Given the description of an element on the screen output the (x, y) to click on. 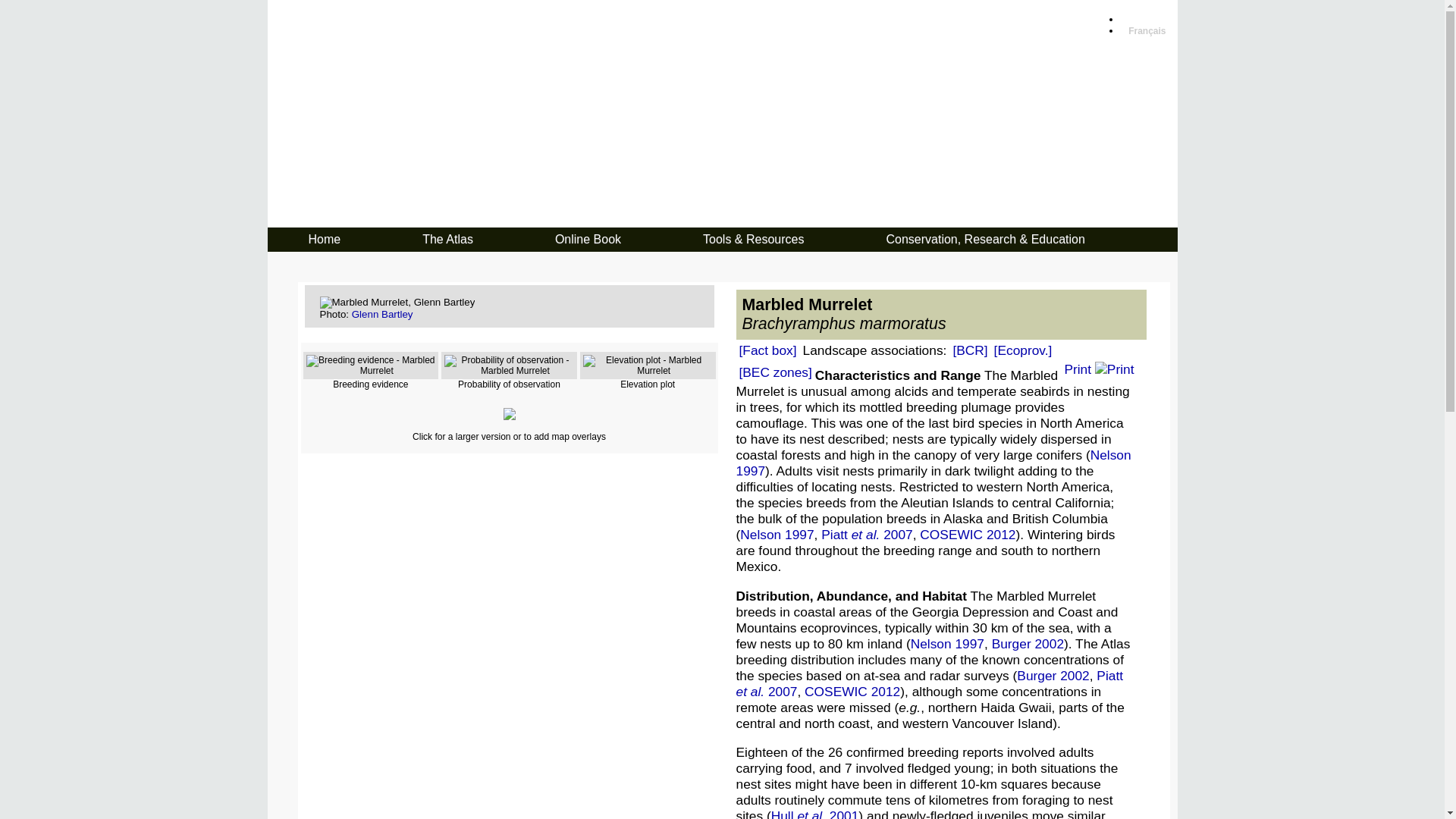
[BCR] Element type: text (969, 349)
Online Book Element type: text (587, 239)
COSEWIC 2012 Element type: text (852, 691)
Print Element type: text (1098, 368)
[BEC zones] Element type: text (774, 371)
Home Element type: text (323, 239)
Piatt et al. 2007 Element type: text (866, 534)
Burger 2002 Element type: text (1052, 675)
Conservation, Research & Education Element type: text (984, 239)
Piatt et al. 2007 Element type: text (929, 683)
Breeding evidence - Marbled Murrelet Element type: hover (371, 365)
The Atlas Element type: text (447, 239)
Elevation plot - Marbled Murrelet Element type: hover (647, 365)
English Element type: text (1144, 19)
[Ecoprov.] Element type: text (1023, 349)
[Fact box] Element type: text (767, 349)
Nelson 1997 Element type: text (776, 534)
Nelson 1997 Element type: text (947, 643)
Nelson 1997 Element type: text (932, 462)
Glenn Bartley Element type: text (382, 314)
Tools & Resources Element type: text (753, 239)
COSEWIC 2012 Element type: text (967, 534)
Probability of observation - Marbled Murrelet Element type: hover (509, 365)
Burger 2002 Element type: text (1027, 643)
